Given the description of an element on the screen output the (x, y) to click on. 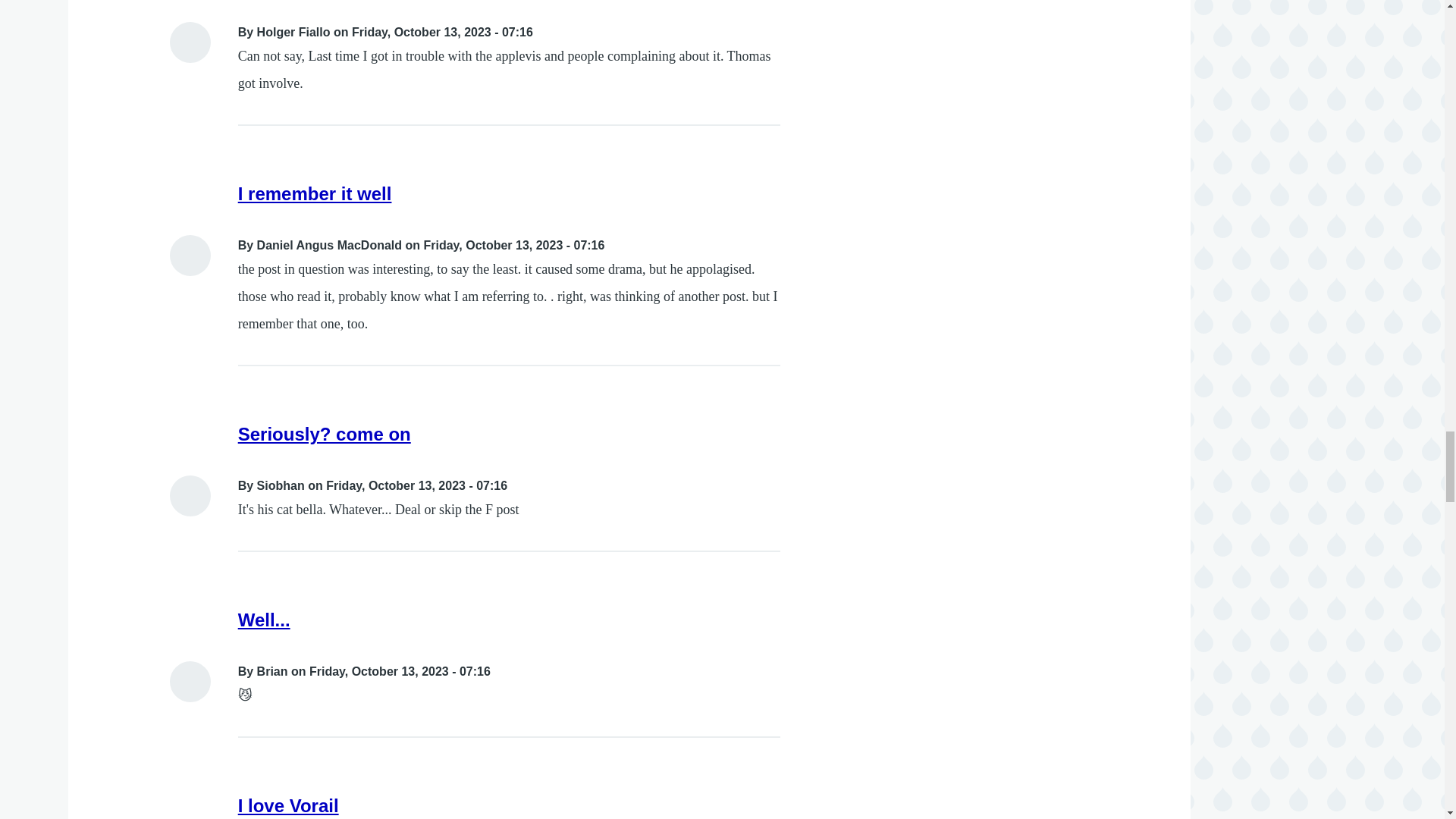
Well... (263, 619)
I remember it well (314, 193)
Seriously? come on (324, 434)
